Given the description of an element on the screen output the (x, y) to click on. 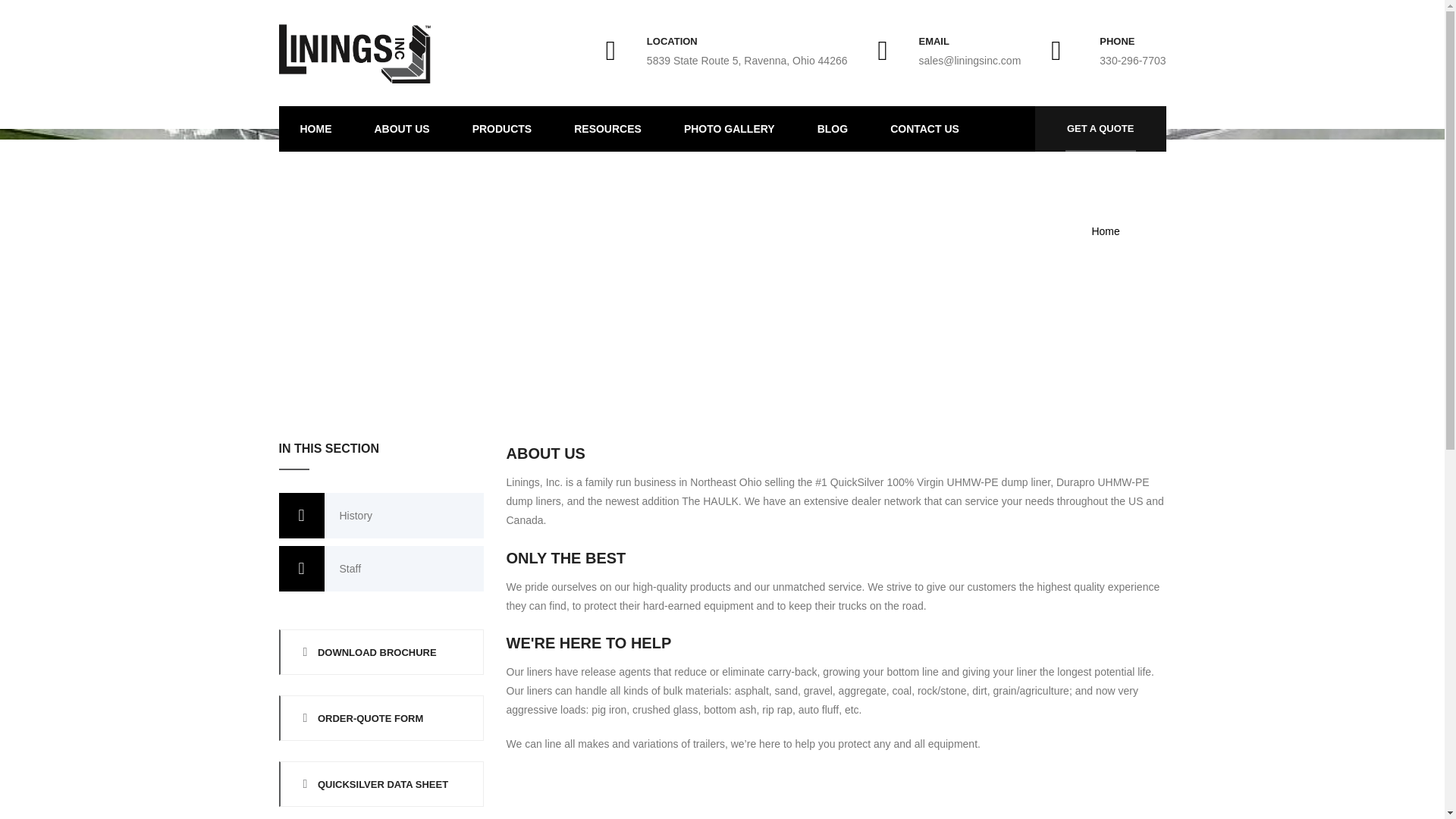
PHOTO GALLERY (729, 128)
PRODUCTS (502, 128)
History (381, 515)
CONTACT US (924, 128)
RESOURCES (607, 128)
ORDER-QUOTE FORM (381, 718)
Staff (381, 568)
BLOG (832, 128)
HOME (316, 128)
QUICKSILVER DATA SHEET (381, 783)
